Given the description of an element on the screen output the (x, y) to click on. 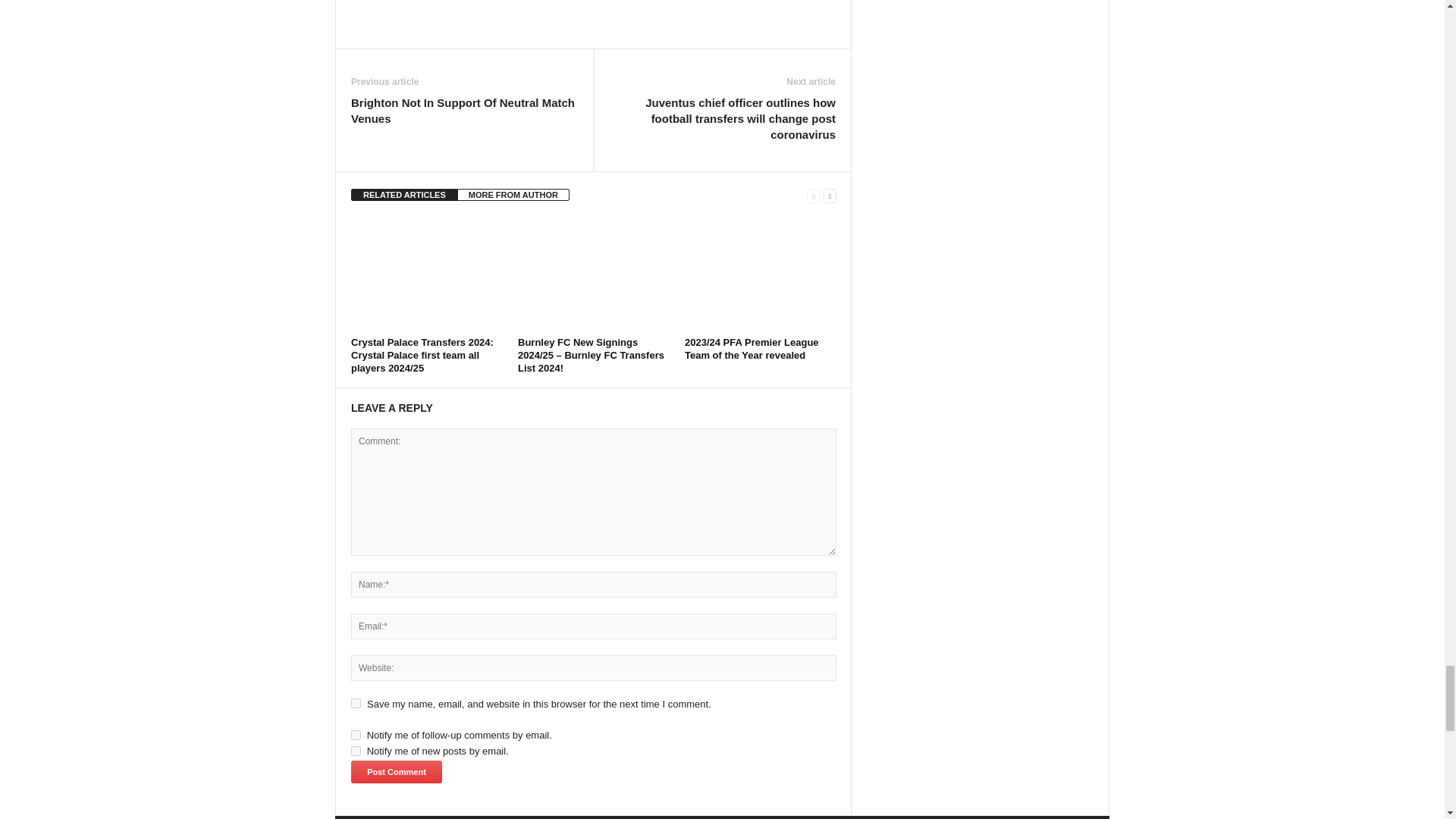
Post Comment (396, 771)
subscribe (355, 735)
yes (355, 703)
subscribe (355, 750)
